Given the description of an element on the screen output the (x, y) to click on. 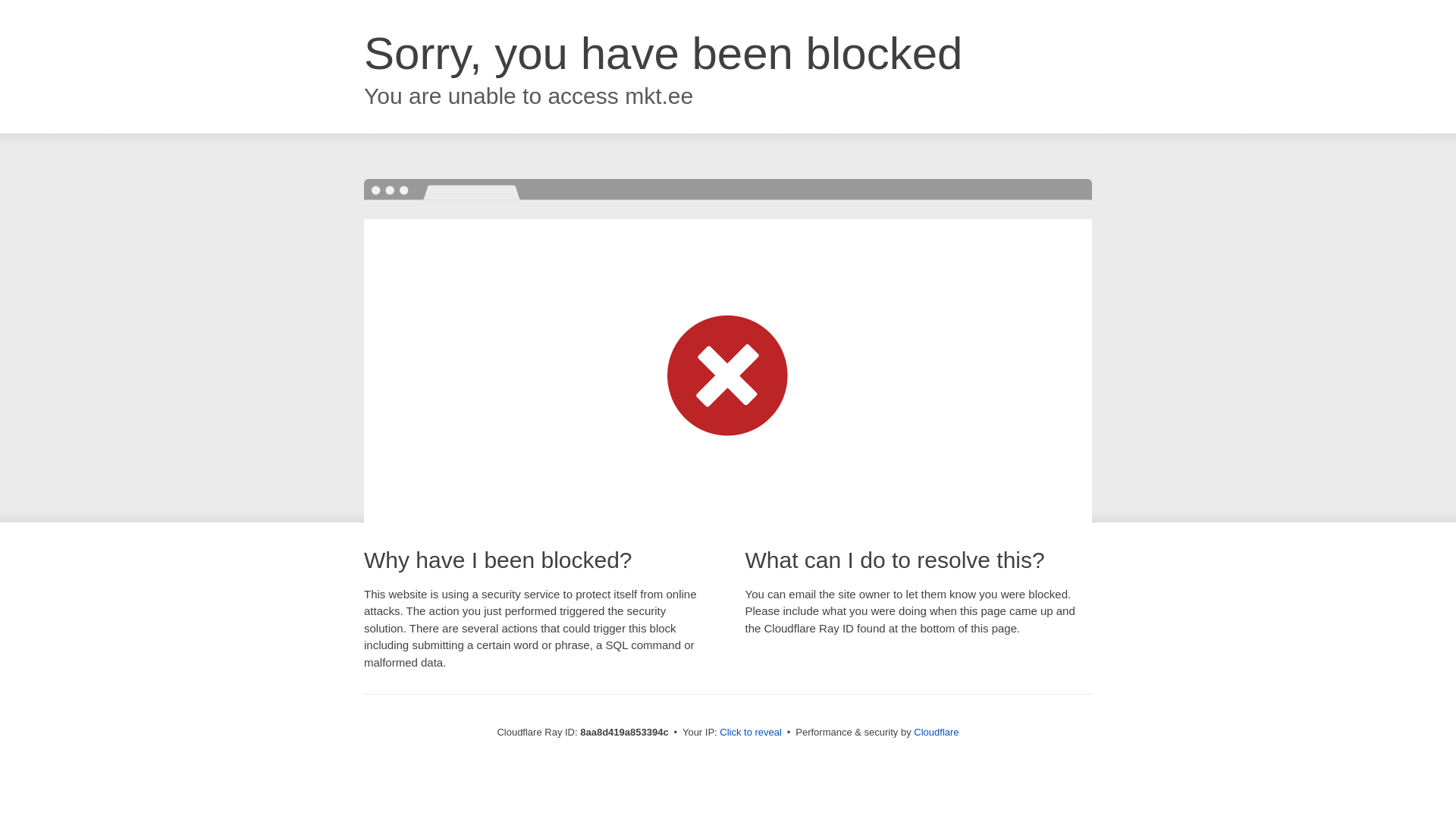
Click to reveal (750, 732)
Cloudflare (936, 731)
